Given the description of an element on the screen output the (x, y) to click on. 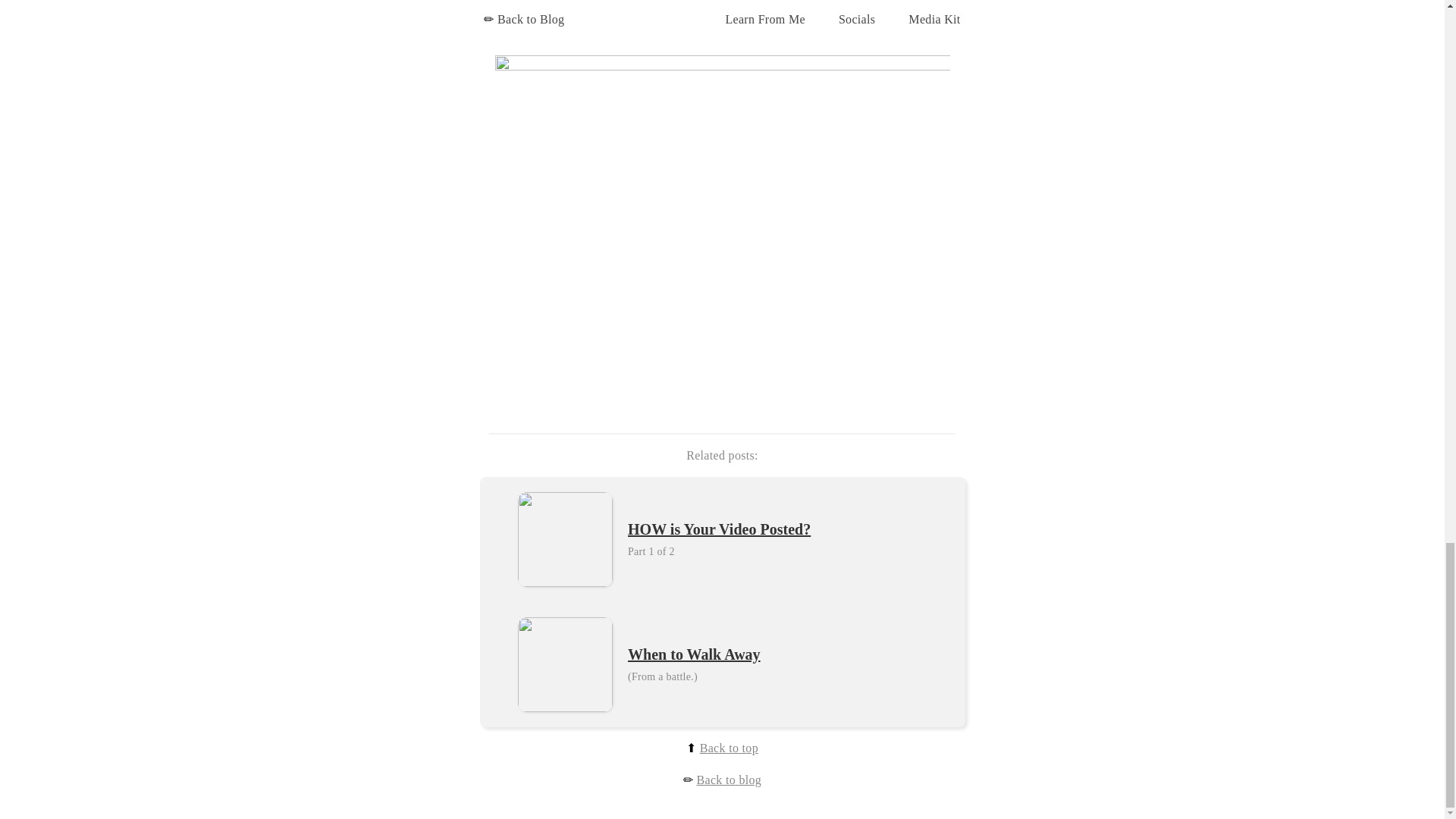
Back to top (729, 748)
HOW is Your Video Posted? (718, 529)
When to Walk Away (693, 655)
Back to blog (729, 779)
